Given the description of an element on the screen output the (x, y) to click on. 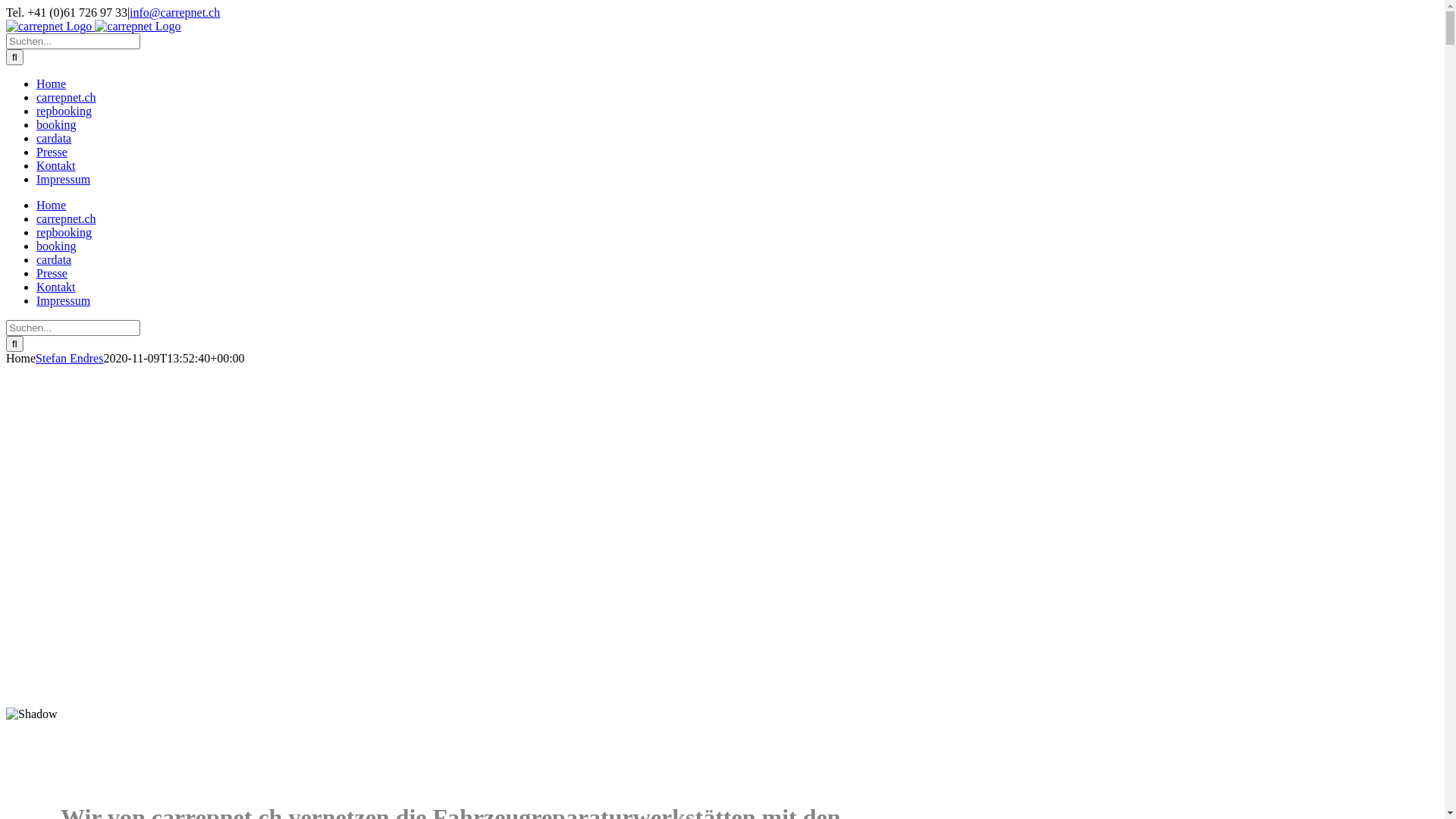
booking Element type: text (55, 245)
carrepnet.ch Element type: text (66, 97)
Kontakt Element type: text (55, 165)
carrepnet.ch Element type: text (66, 218)
Presse Element type: text (51, 151)
Impressum Element type: text (63, 300)
Zum Inhalt springen Element type: text (5, 5)
Stefan Endres Element type: text (69, 357)
info@carrepnet.ch Element type: text (174, 12)
repbooking Element type: text (63, 231)
cardata Element type: text (53, 137)
cardata Element type: text (53, 259)
Home Element type: text (50, 204)
Impressum Element type: text (63, 178)
Kontakt Element type: text (55, 286)
Home Element type: text (50, 83)
booking Element type: text (55, 124)
repbooking Element type: text (63, 110)
Presse Element type: text (51, 272)
